Given the description of an element on the screen output the (x, y) to click on. 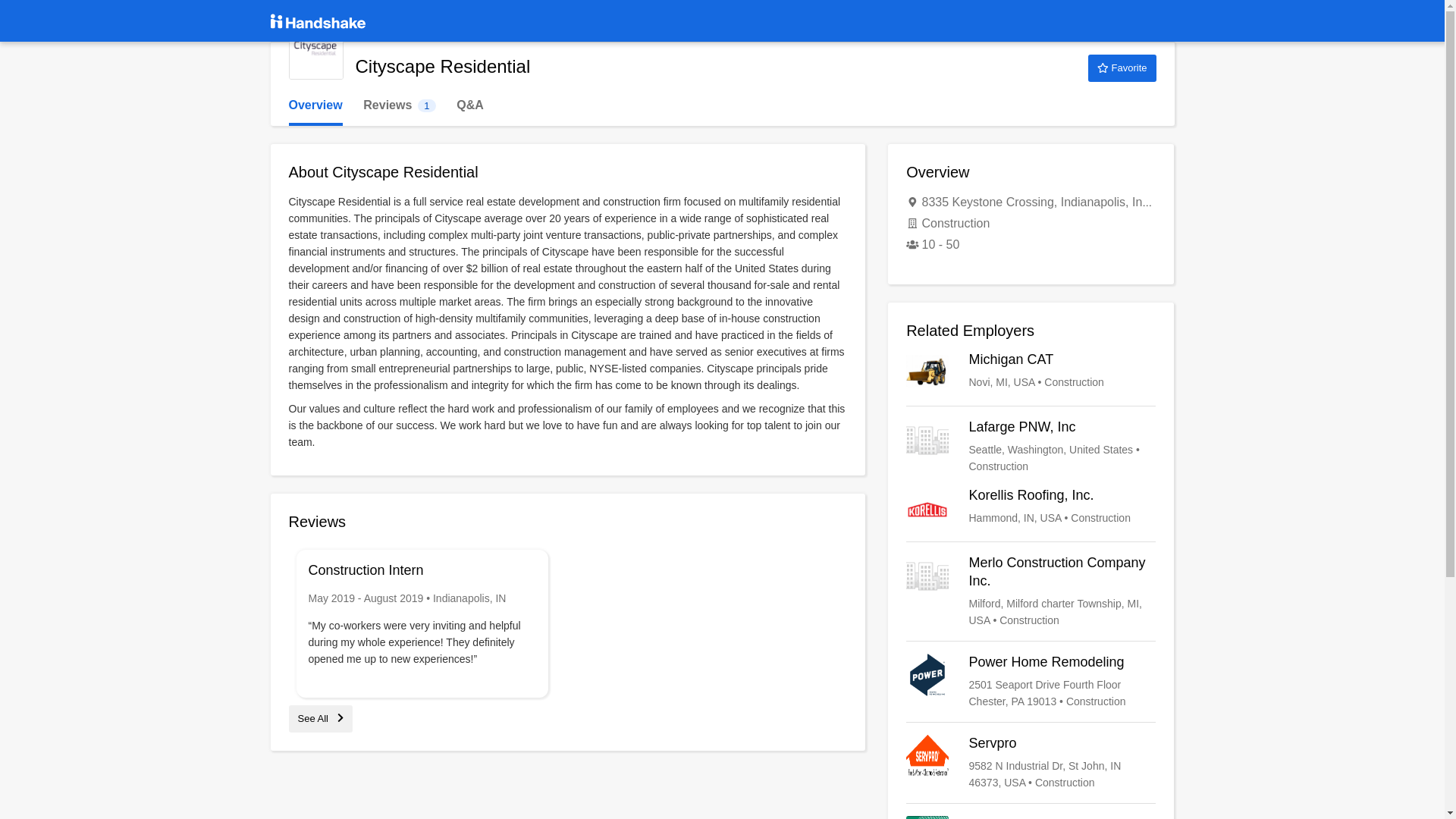
Overview (398, 105)
Merlo Construction Company Inc. (315, 105)
See All (1030, 591)
Cityscape Residential (320, 717)
Lafarge PNW, Inc (315, 52)
Favorite (1030, 446)
Power Home Remodeling (1121, 67)
Korellis Roofing, Inc. (1030, 681)
Magni Industries (1030, 507)
Servpro (1030, 817)
Michigan CAT (1030, 817)
